Given the description of an element on the screen output the (x, y) to click on. 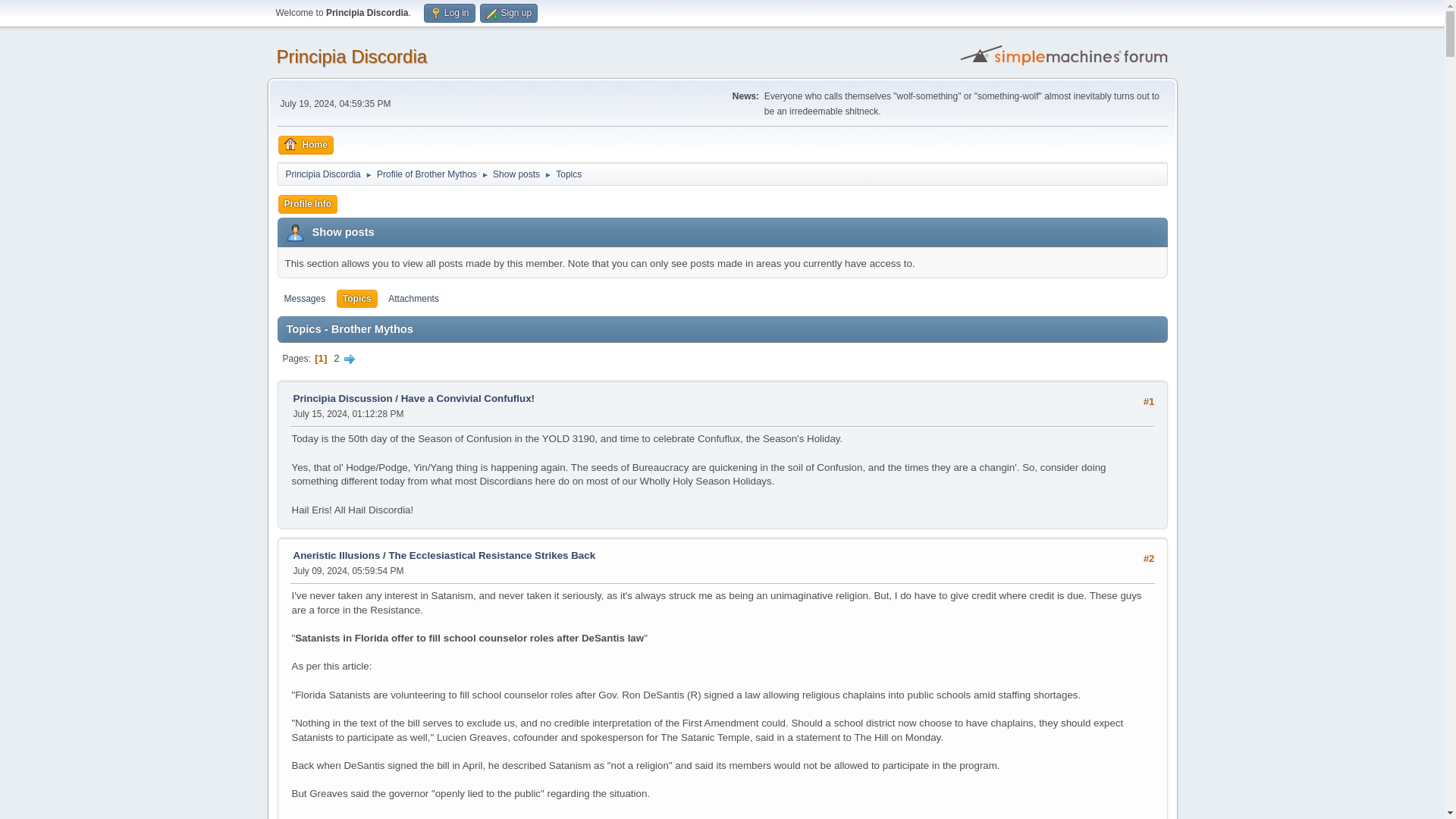
Messages (304, 298)
Sign up (508, 13)
Topics (356, 298)
Show posts (516, 171)
Principia Discussion (341, 398)
Log in (448, 13)
Aneristic Illusions (336, 555)
Simple Machines Forum (1064, 54)
Have a Convivial Confuflux! (467, 398)
The Ecclesiastical Resistance Strikes Back (491, 555)
Attachments (413, 298)
Principia Discordia (351, 55)
Topics (568, 171)
Profile Info (307, 203)
Profile of Brother Mythos (427, 171)
